Given the description of an element on the screen output the (x, y) to click on. 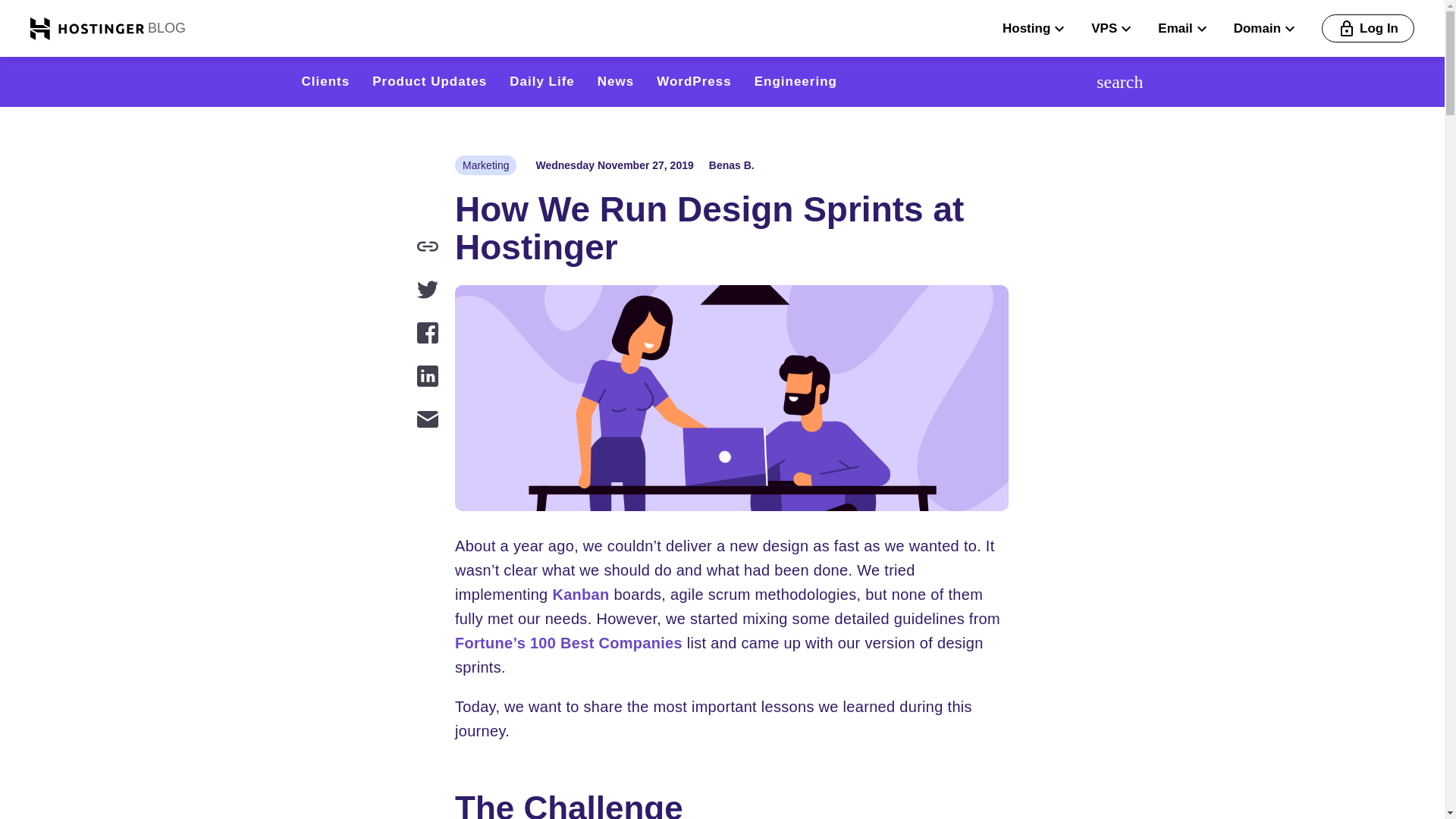
Engineering (795, 81)
News (614, 81)
Kanban (579, 594)
Product Updates (429, 81)
Log In (1367, 28)
Daily Life (542, 81)
WordPress (693, 81)
Marketing (485, 165)
Clients (325, 81)
BLOG (165, 28)
